Given the description of an element on the screen output the (x, y) to click on. 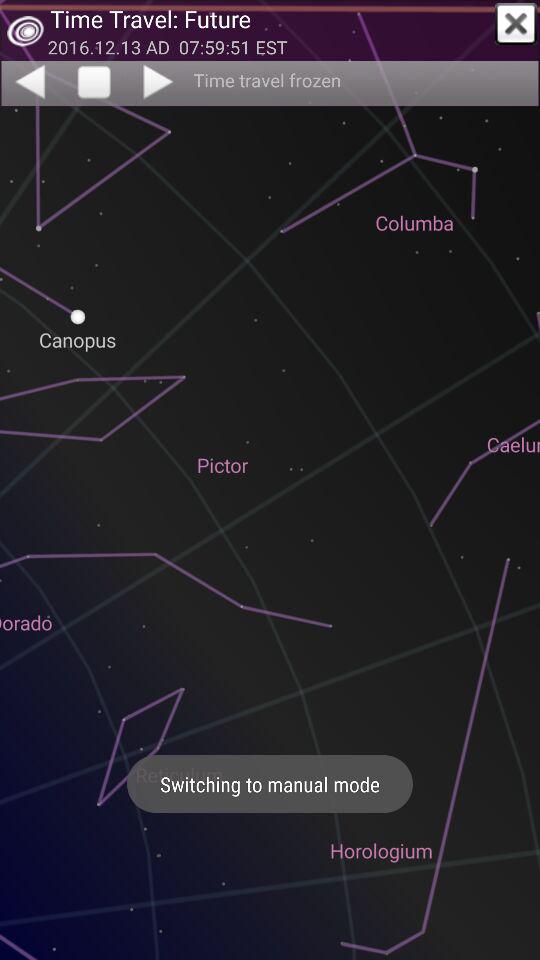
resume time travel (160, 81)
